Given the description of an element on the screen output the (x, y) to click on. 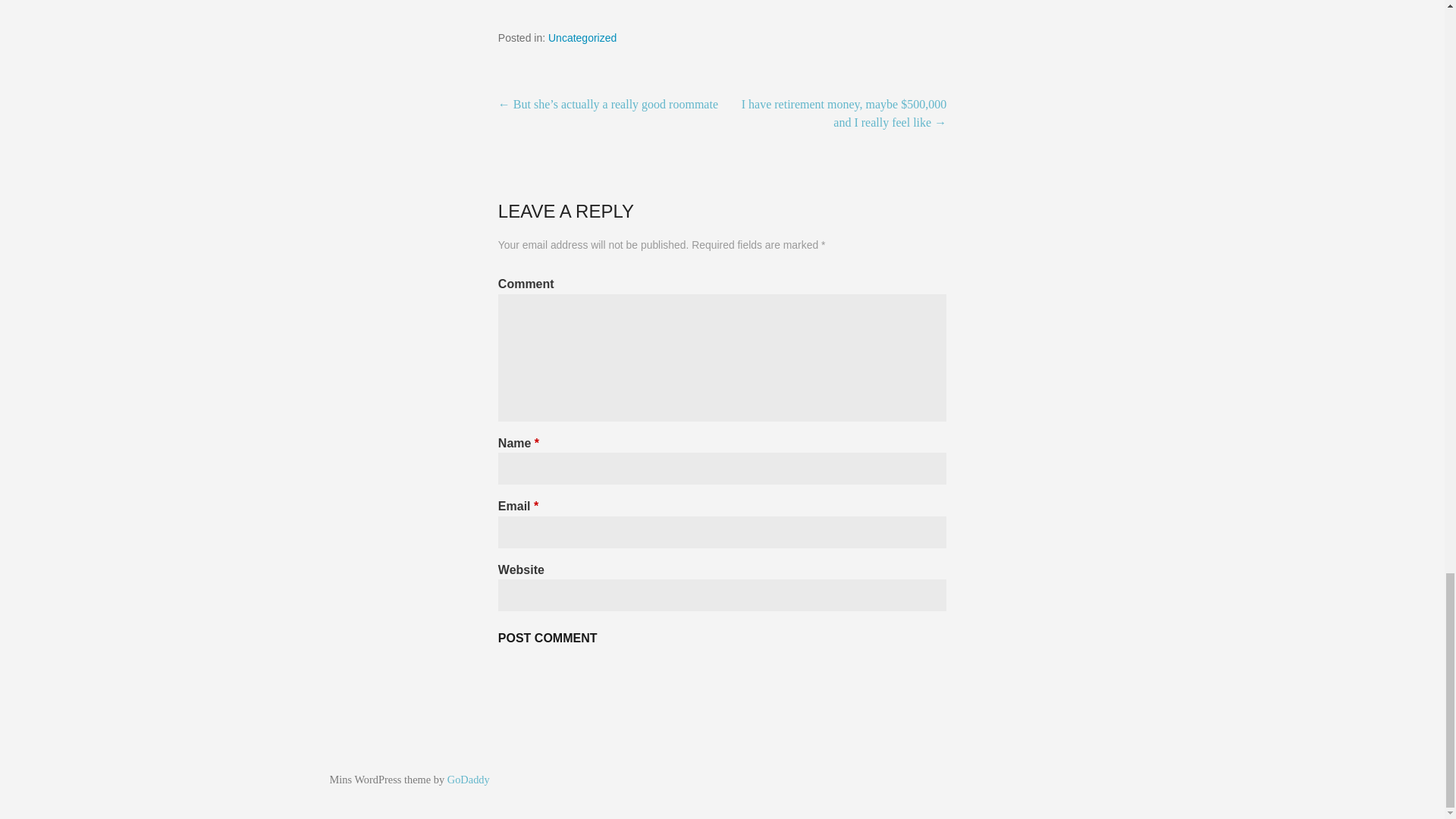
Post Comment (546, 638)
GoDaddy (467, 779)
Uncategorized (581, 37)
Post Comment (546, 638)
